Given the description of an element on the screen output the (x, y) to click on. 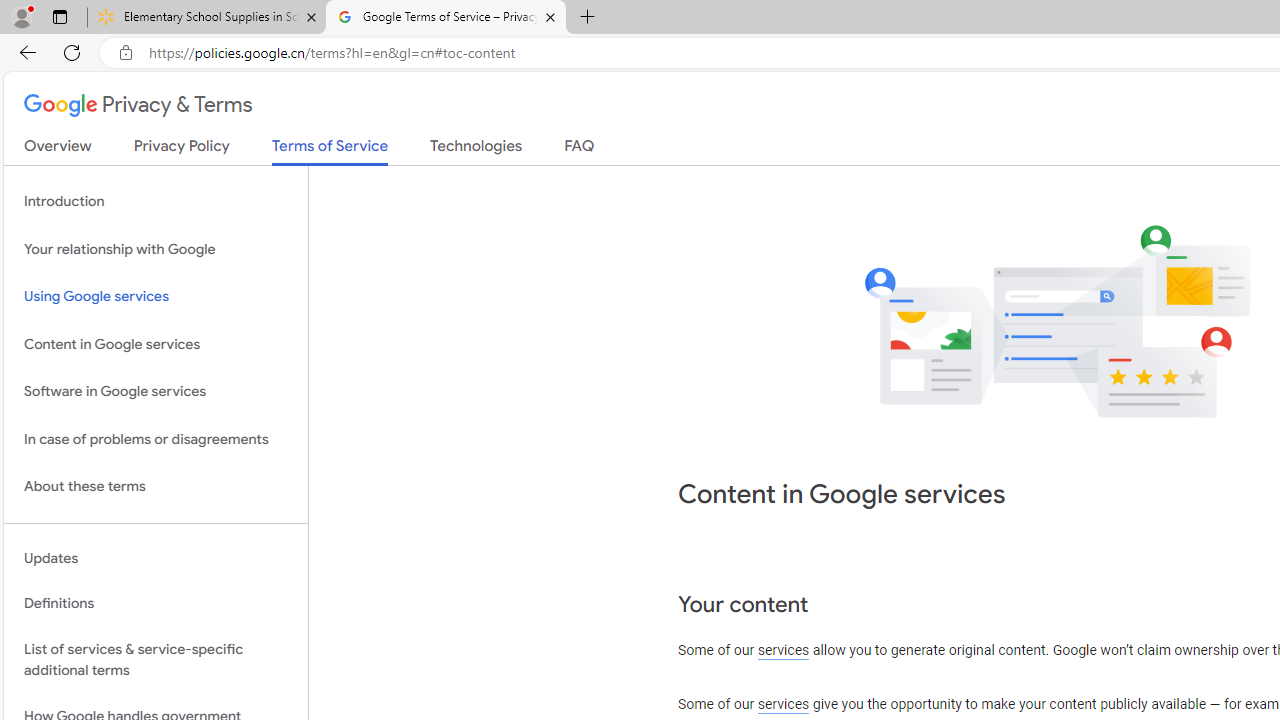
New Tab (587, 17)
View site information (125, 53)
Back (24, 52)
Close tab (550, 16)
Refresh (72, 52)
Tab actions menu (59, 16)
